Given the description of an element on the screen output the (x, y) to click on. 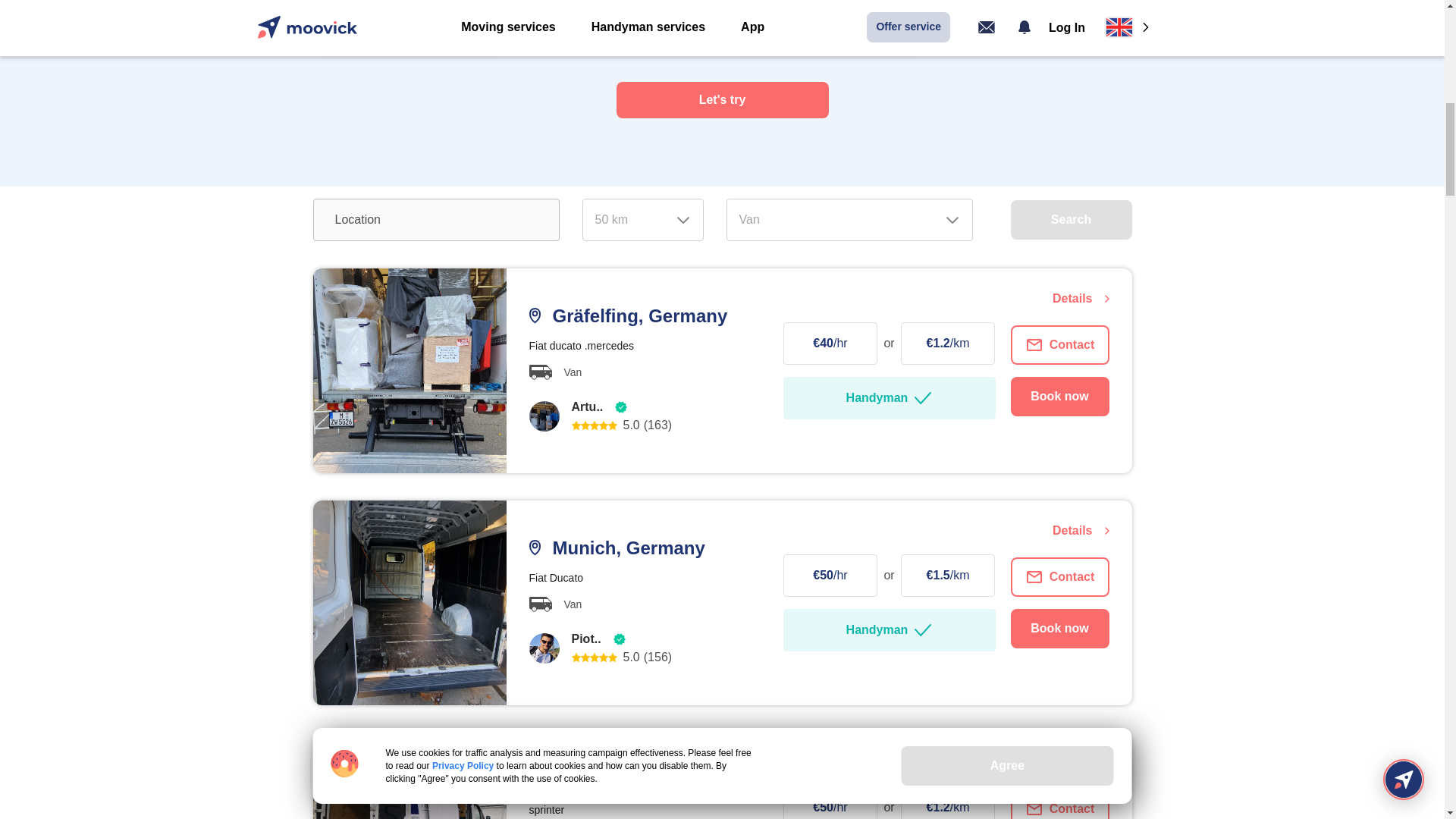
Let's try (721, 99)
Open user profile (544, 647)
Search (1070, 219)
Open user profile (544, 415)
